Given the description of an element on the screen output the (x, y) to click on. 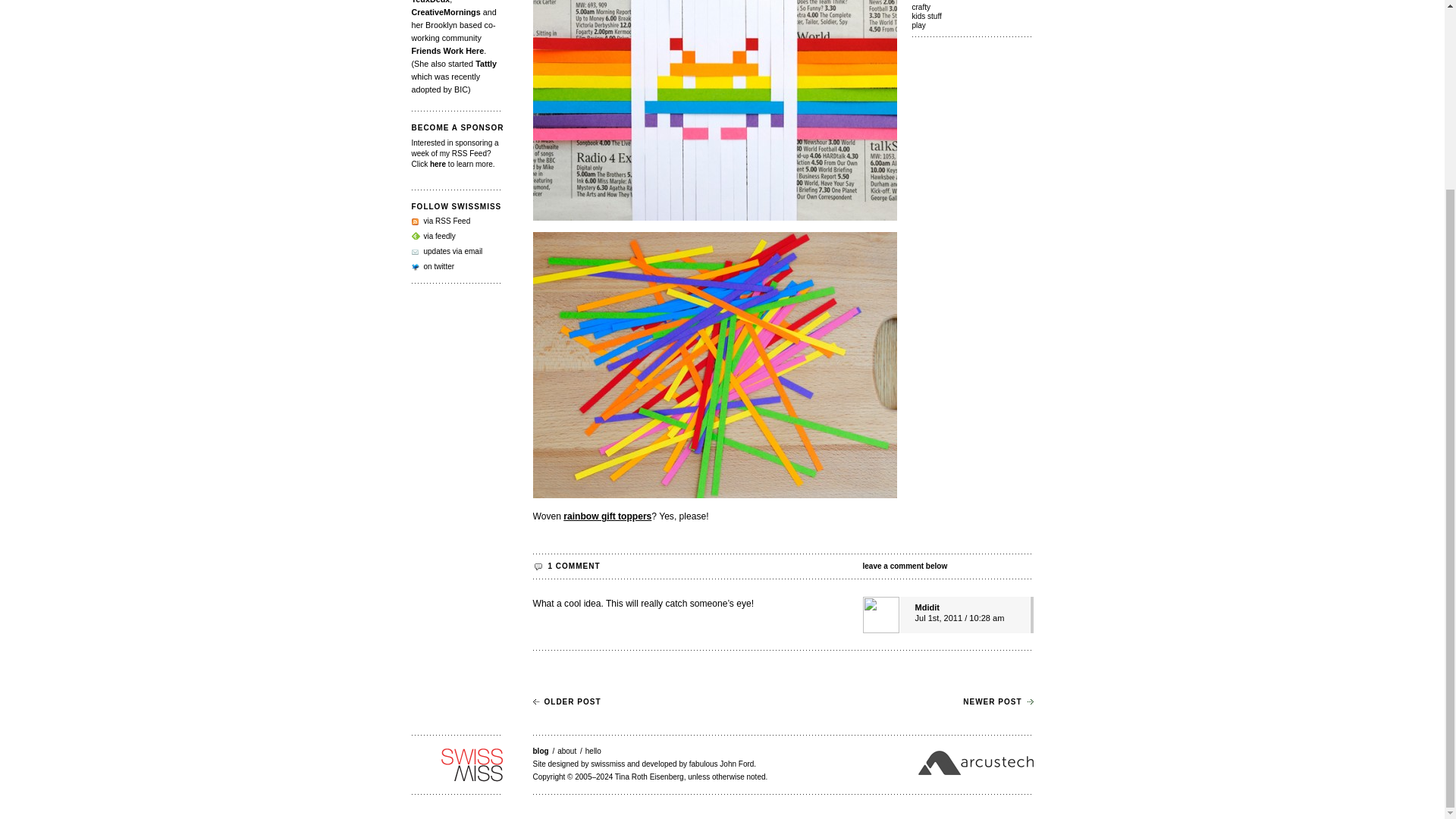
via RSS Feed (440, 221)
Arcustech (974, 762)
OLDER POST (565, 701)
kids stuff (971, 16)
on twitter (432, 266)
woven-space-invaders-1 (714, 364)
hello (593, 750)
woven-space-invaders-8 (714, 110)
Tattly (486, 62)
updates via email (445, 251)
CreativeMornings (445, 11)
via feedly (432, 235)
rainbow gift toppers (606, 516)
swissmiss (456, 765)
leave a comment below (948, 565)
